Given the description of an element on the screen output the (x, y) to click on. 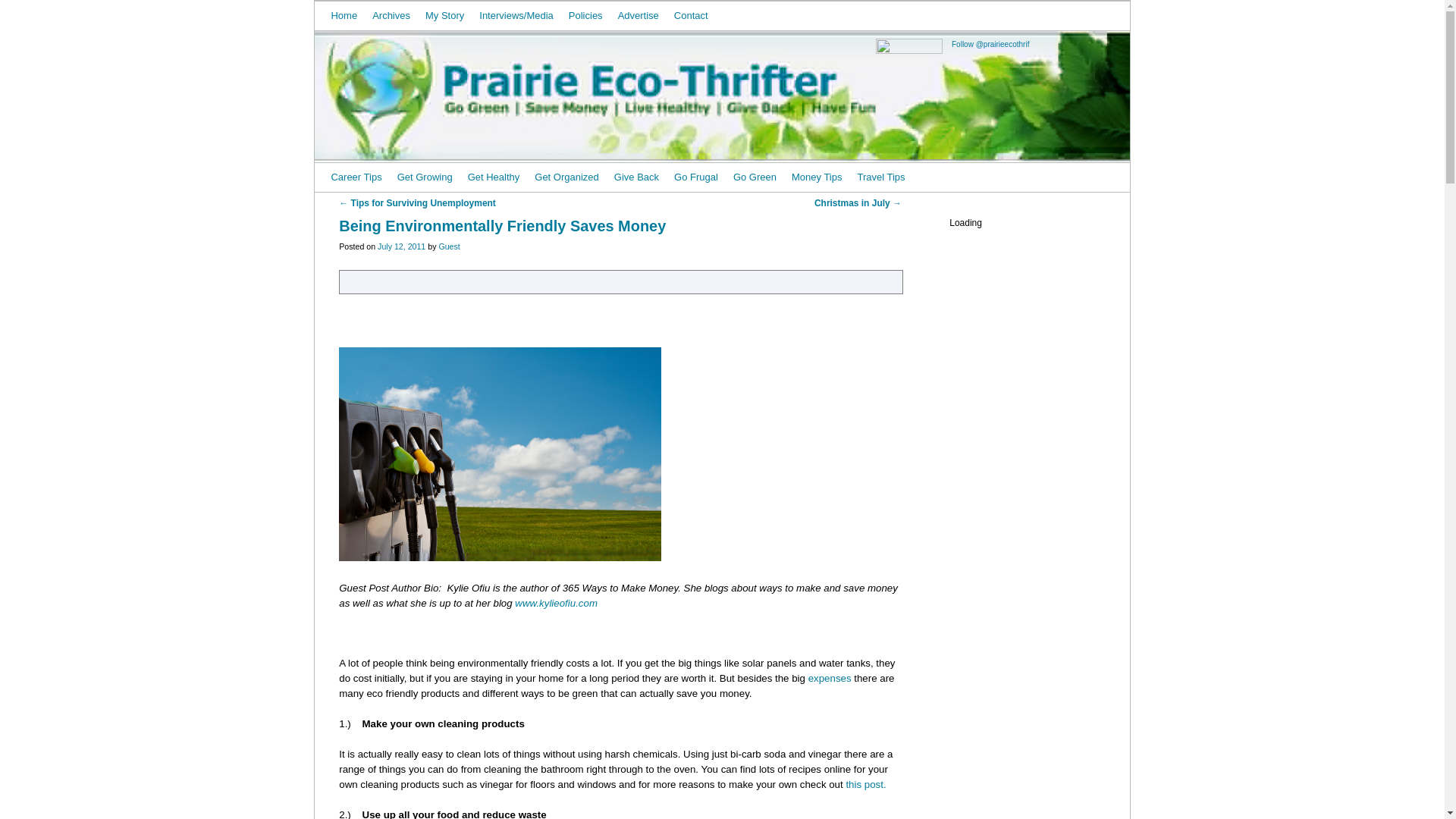
Travel Tips (880, 176)
Get Organized (567, 176)
Go Frugal (695, 176)
Tips on how to contribute the greater good. (636, 176)
Guest (449, 245)
Advertise (638, 15)
Get Growing (425, 176)
Archives (391, 15)
